Given the description of an element on the screen output the (x, y) to click on. 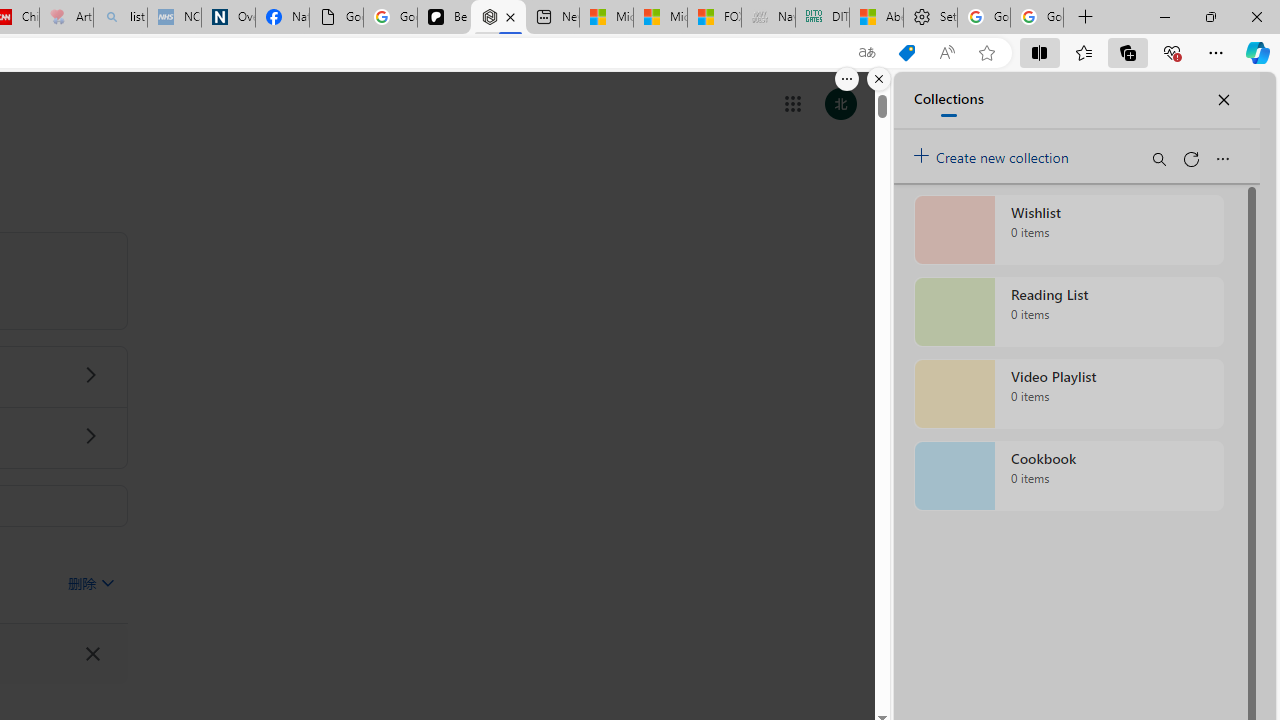
Aberdeen, Hong Kong SAR hourly forecast | Microsoft Weather (875, 17)
Google Analytics Opt-out Browser Add-on Download Page (336, 17)
